Given the description of an element on the screen output the (x, y) to click on. 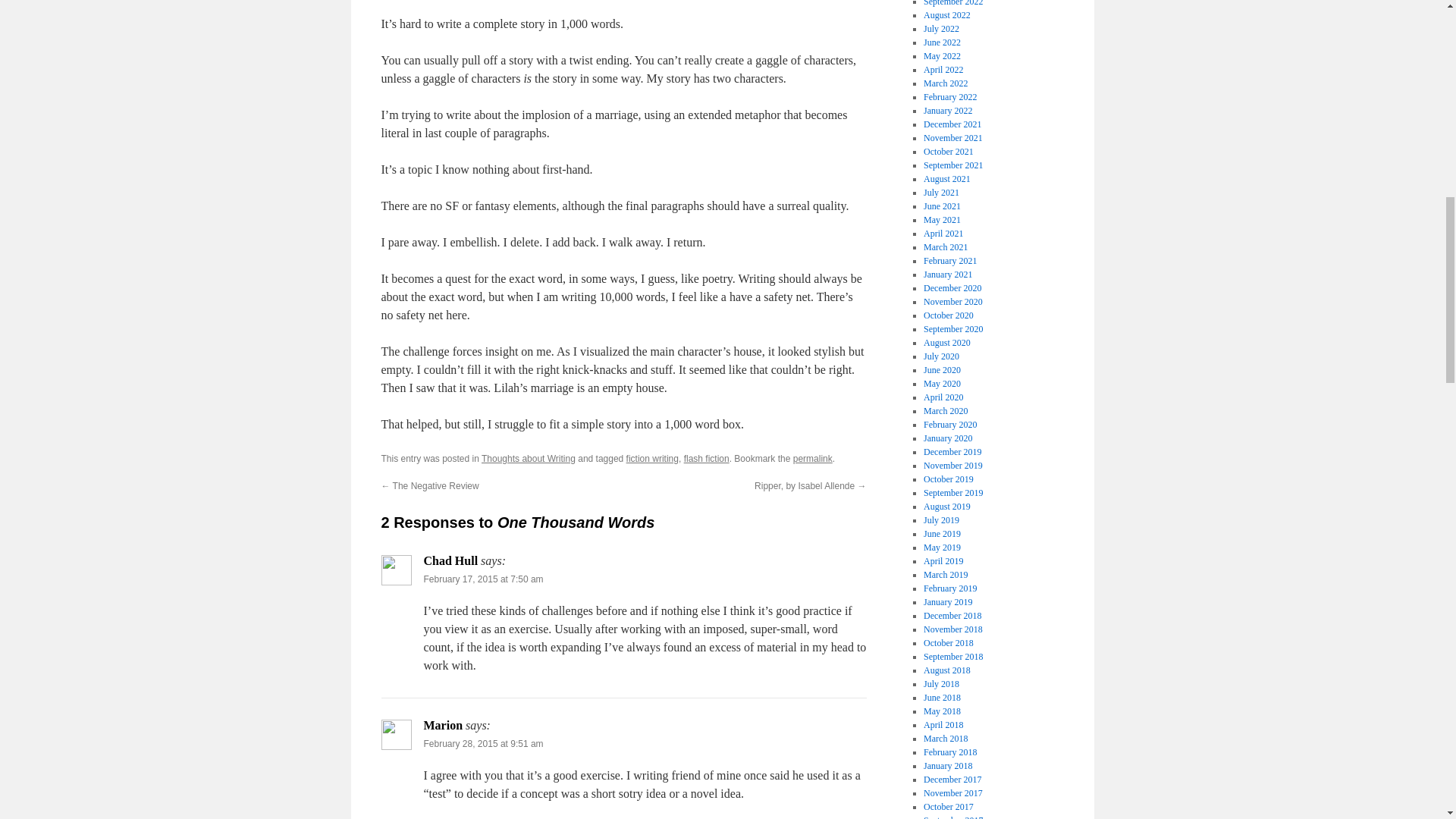
March 2022 (945, 82)
October 2021 (948, 151)
April 2022 (942, 69)
June 2022 (941, 41)
February 28, 2015 at 9:51 am (483, 743)
February 2022 (949, 96)
permalink (812, 458)
November 2021 (952, 137)
July 2022 (941, 28)
January 2022 (947, 110)
